Given the description of an element on the screen output the (x, y) to click on. 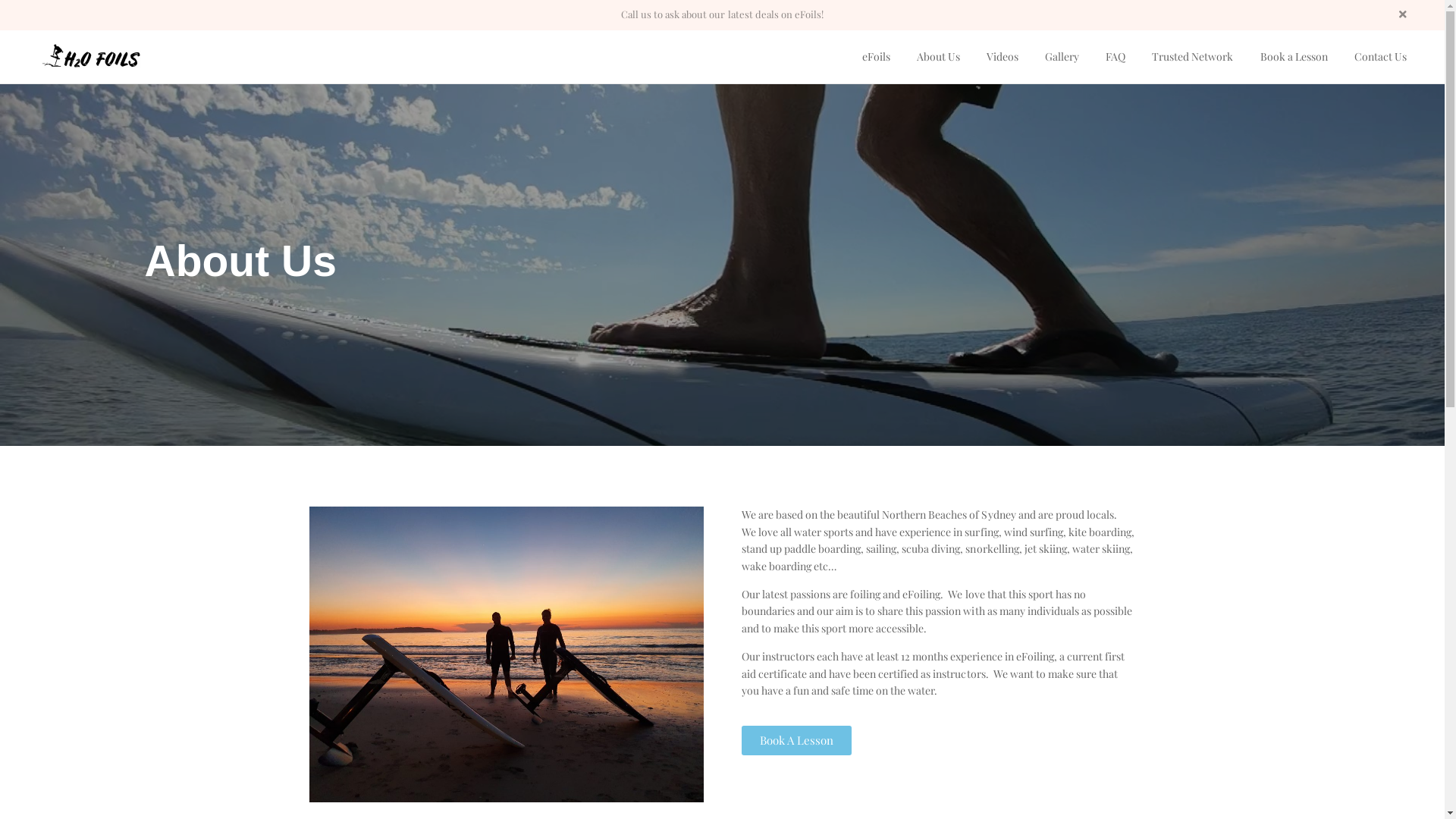
Home Element type: text (315, 638)
Book A Lesson Element type: text (796, 740)
Contact Us Element type: text (327, 721)
About Us Element type: text (938, 56)
Book a Lesson Element type: text (1293, 56)
FAQ Element type: text (1115, 56)
Privacy Policy Element type: text (550, 638)
Gallery Element type: text (1061, 56)
Trusted Network Element type: text (1192, 56)
Terms & Conditions Element type: text (564, 666)
Download Catalogue Element type: text (350, 666)
Videos Element type: text (1002, 56)
Contact Us Element type: text (1380, 56)
eFoils Element type: text (876, 56)
About Element type: text (315, 693)
